Given the description of an element on the screen output the (x, y) to click on. 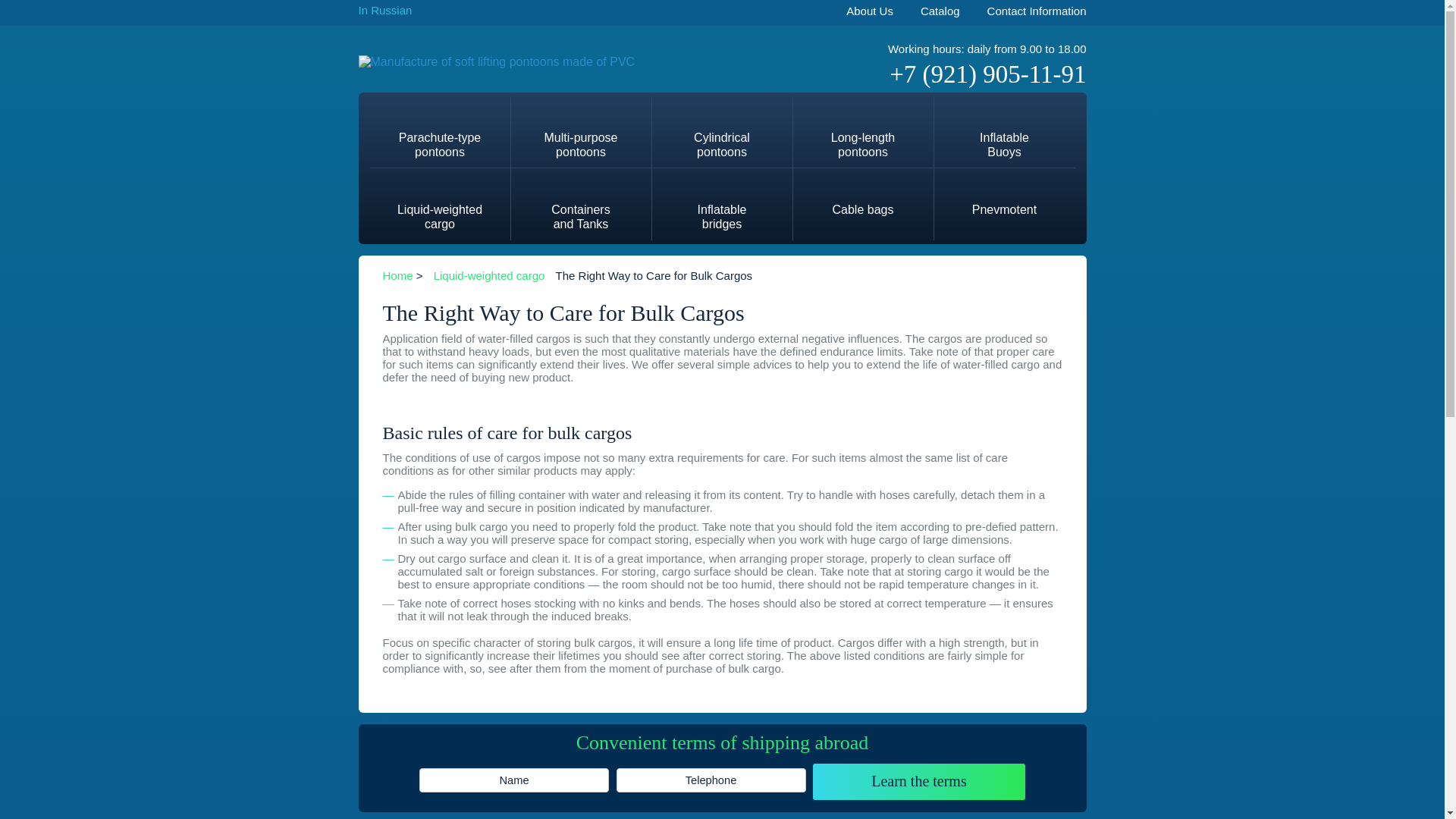
Catalog (939, 12)
Pnevmotent (1004, 196)
Inflatable Buoys (1004, 131)
Learn the terms (918, 781)
About Us (869, 12)
Liquid-weighted cargo (722, 203)
Catalog (488, 275)
In Russian (939, 12)
About Us (385, 10)
Containers and Tanks (869, 12)
Cable bags (440, 131)
